Given the description of an element on the screen output the (x, y) to click on. 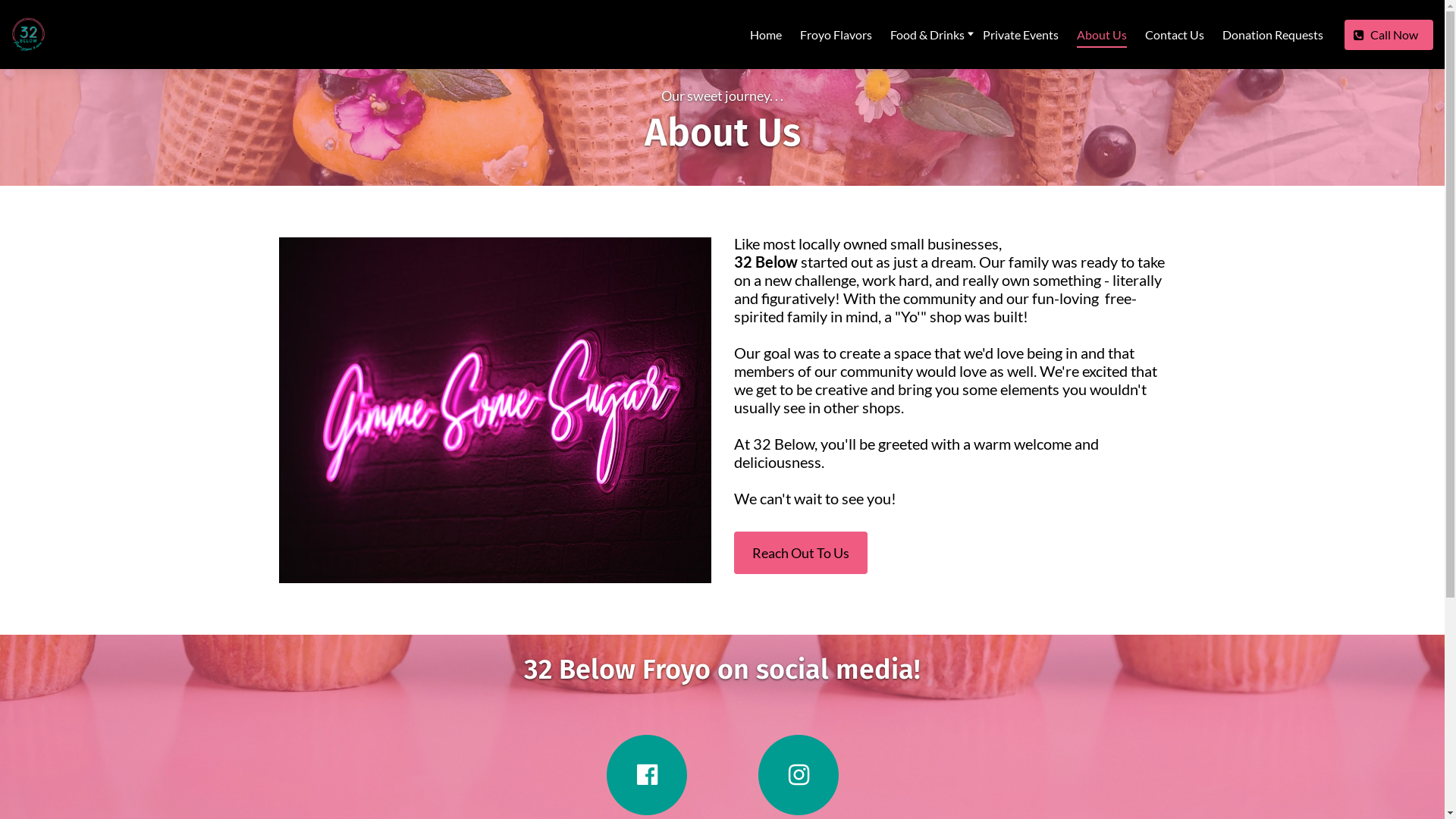
Reach Out To Us Element type: text (800, 552)
Call Now Element type: text (1388, 34)
Contact Us Element type: text (1174, 34)
Home Element type: text (765, 34)
Food & Drinks Element type: text (927, 34)
About Us Element type: text (1101, 34)
Donation Requests Element type: text (1272, 34)
Froyo Flavors Element type: text (836, 34)
Private Events Element type: text (1020, 34)
